Given the description of an element on the screen output the (x, y) to click on. 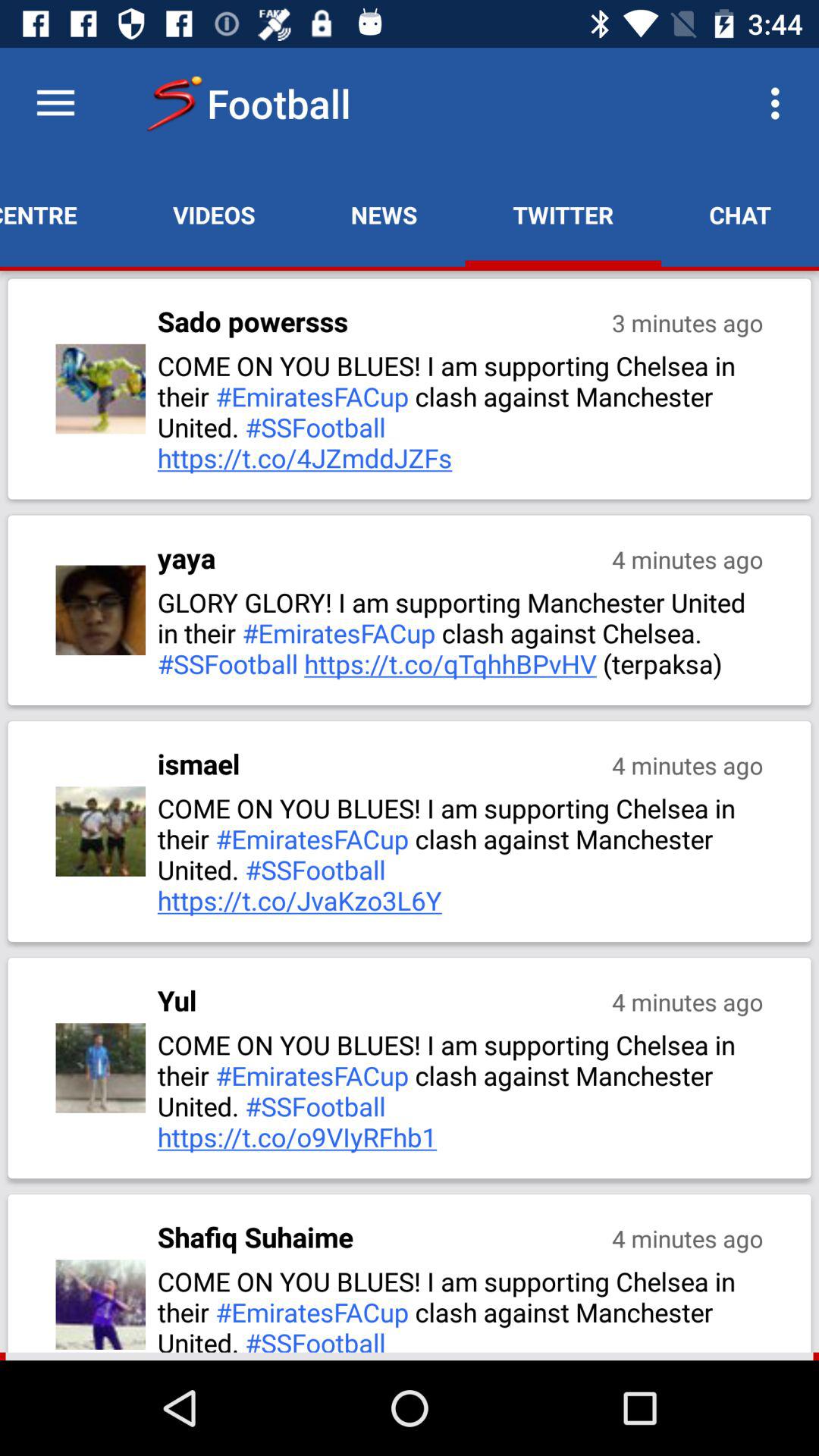
press app next to news (214, 214)
